Given the description of an element on the screen output the (x, y) to click on. 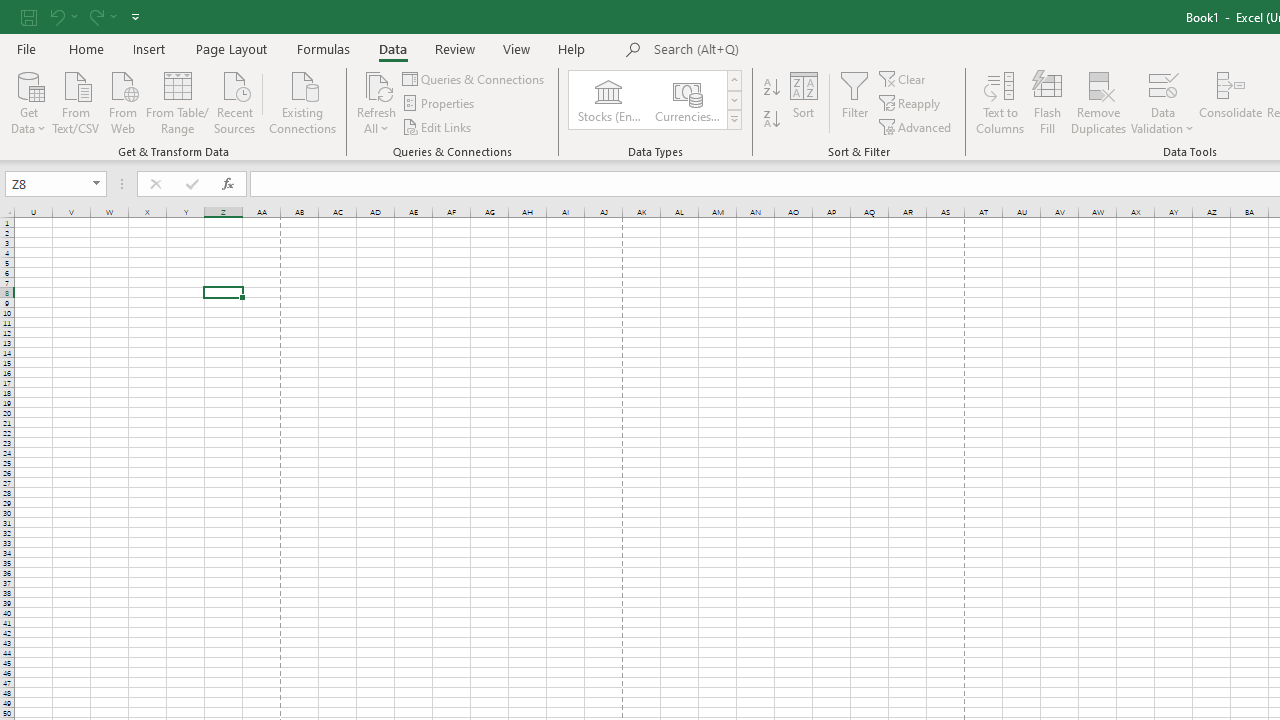
Reapply (911, 103)
Consolidate... (1230, 102)
Row up (734, 79)
From Text/CSV (75, 101)
Properties (440, 103)
Sort Z to A (772, 119)
